Given the description of an element on the screen output the (x, y) to click on. 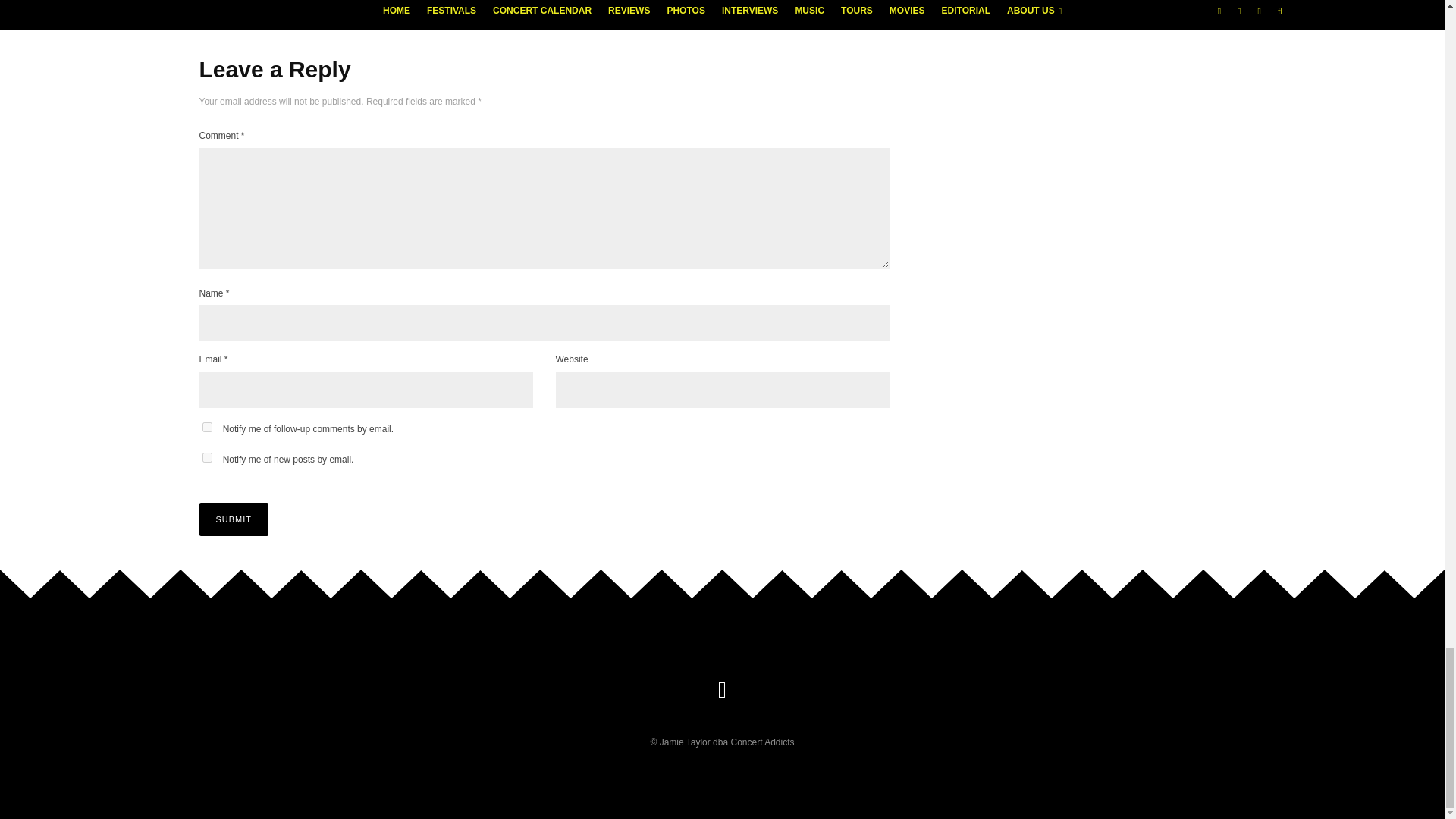
Submit (232, 519)
subscribe (206, 457)
subscribe (206, 427)
